Given the description of an element on the screen output the (x, y) to click on. 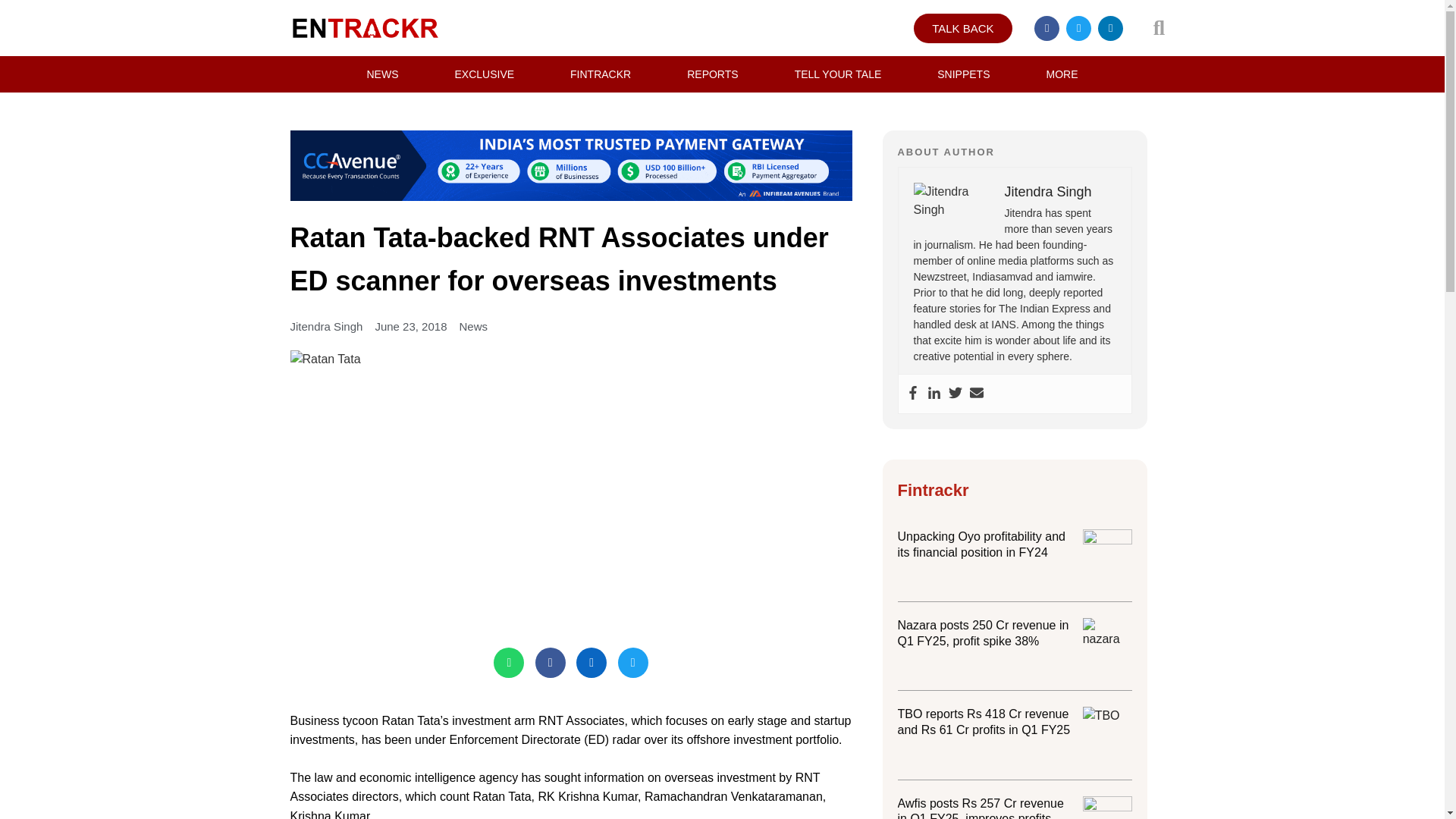
EXCLUSIVE (483, 74)
MORE (1061, 74)
NEWS (381, 74)
TELL YOUR TALE (838, 74)
SNIPPETS (962, 74)
TALK BACK (962, 28)
FINTRACKR (600, 74)
REPORTS (712, 74)
